Given the description of an element on the screen output the (x, y) to click on. 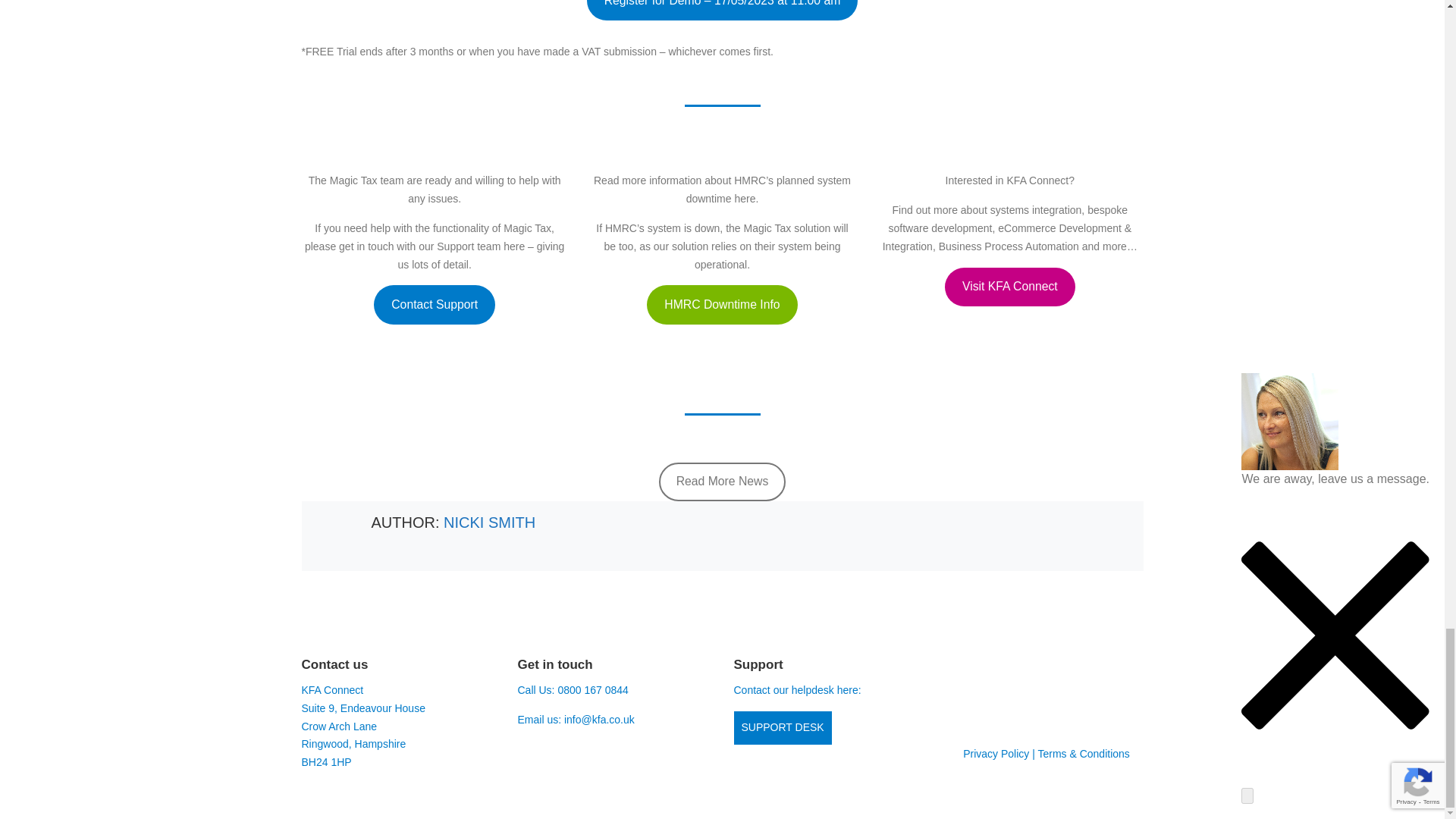
0800 167 0844 (592, 689)
NICKI SMITH (489, 522)
SUPPORT DESK (782, 727)
Visit KFA Connect (1009, 287)
Read More News (722, 482)
Contact Support (434, 304)
Privacy Policy (995, 753)
HMRC Downtime Info (721, 304)
